Given the description of an element on the screen output the (x, y) to click on. 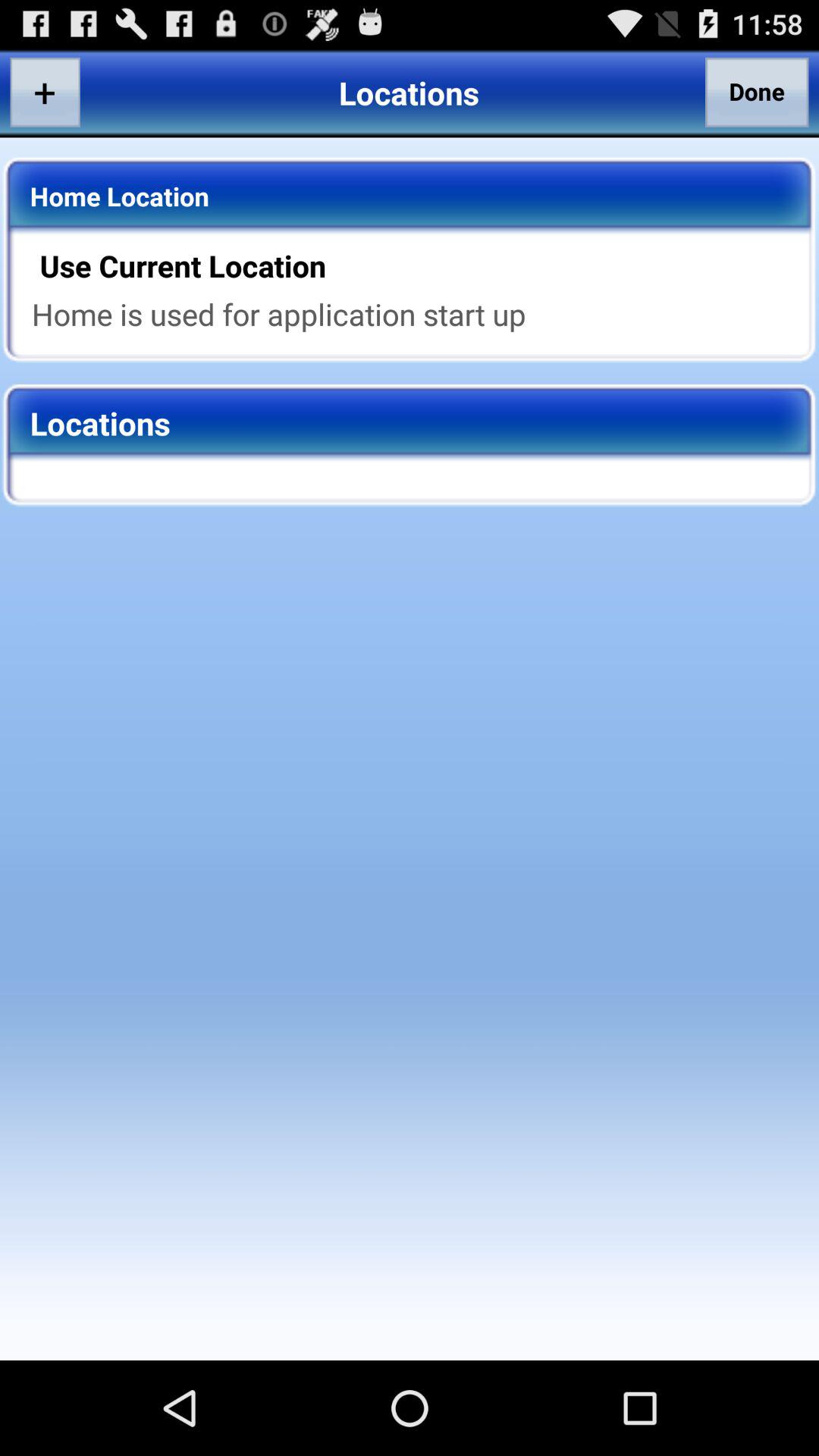
open app next to locations (756, 92)
